Given the description of an element on the screen output the (x, y) to click on. 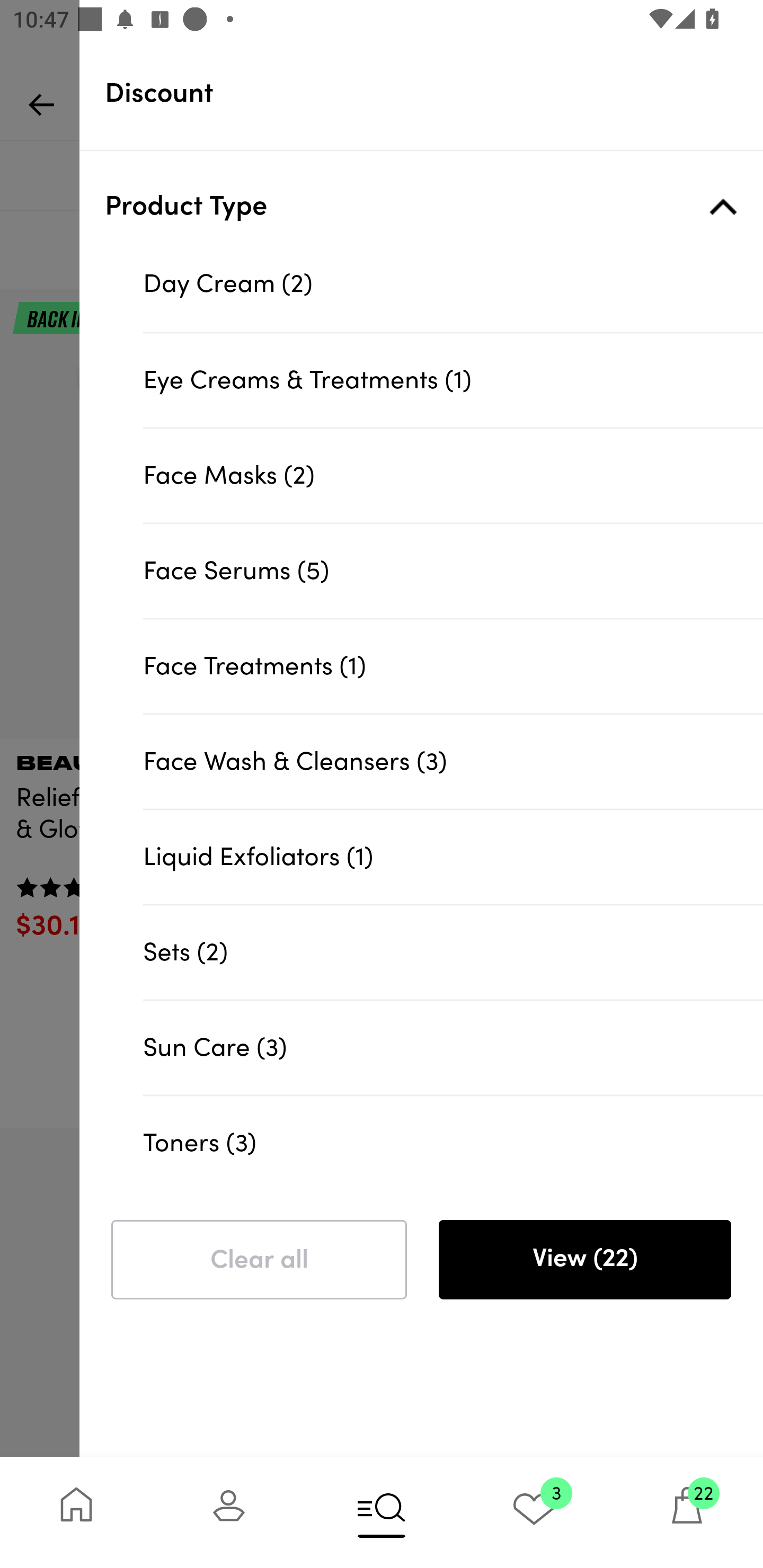
Discount (434, 92)
Day Cream (2) (453, 284)
Eye Creams & Treatments (1) (453, 380)
Face Masks (2) (453, 475)
Face Serums (5) (453, 569)
Face Treatments (1) (453, 665)
Face Wash & Cleansers (3) (453, 761)
Liquid Exfoliators (1) (453, 856)
Sets (2) (453, 952)
Sun Care (3) (453, 1047)
Toners (3) (453, 1141)
Clear all (258, 1259)
View (22) (584, 1259)
3 (533, 1512)
22 (686, 1512)
